Given the description of an element on the screen output the (x, y) to click on. 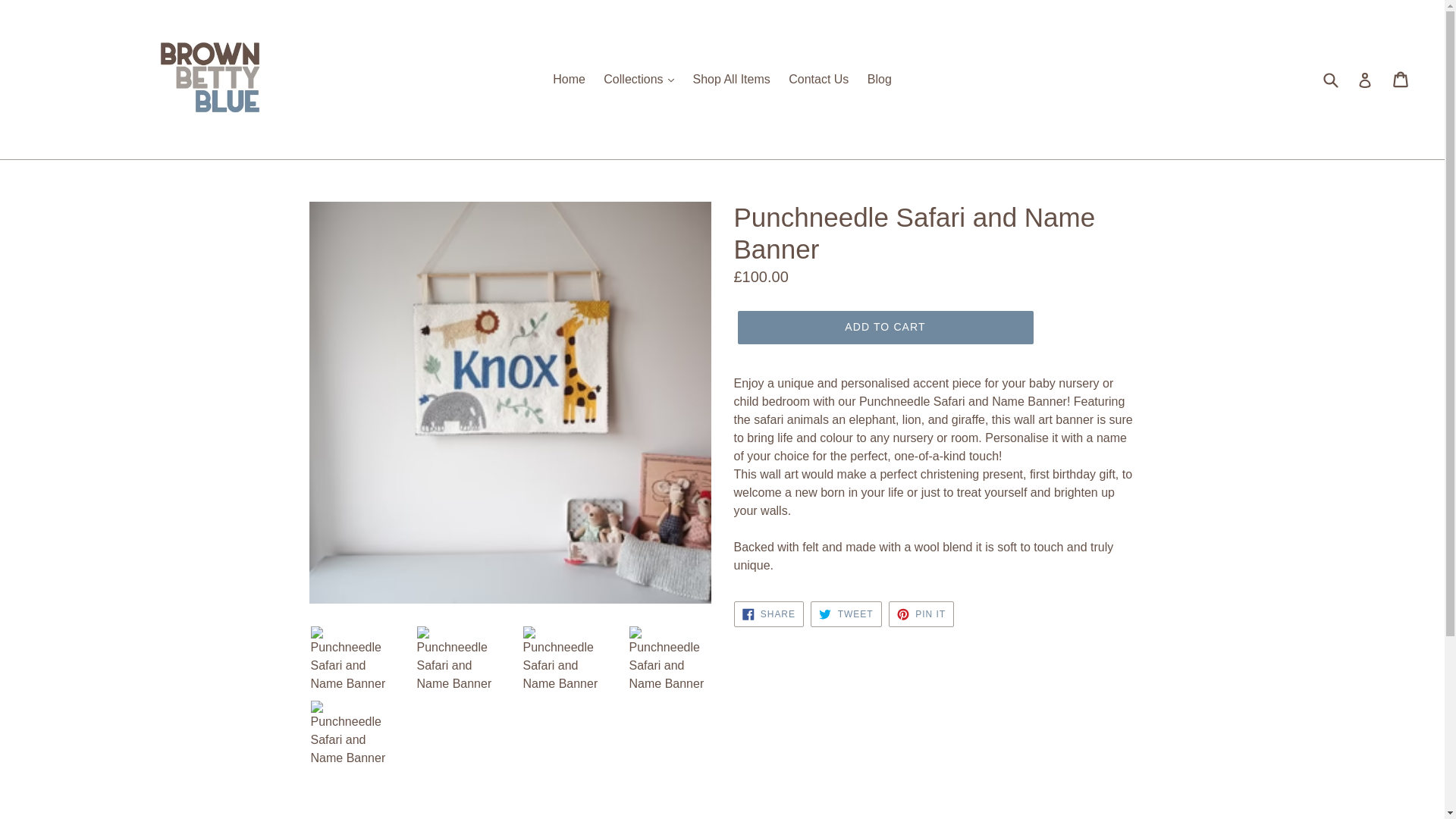
Home (568, 78)
Tweet on Twitter (845, 614)
Share on Facebook (768, 614)
Blog (879, 78)
Pin on Pinterest (920, 614)
Shop All Items (730, 78)
Contact Us (818, 78)
